Given the description of an element on the screen output the (x, y) to click on. 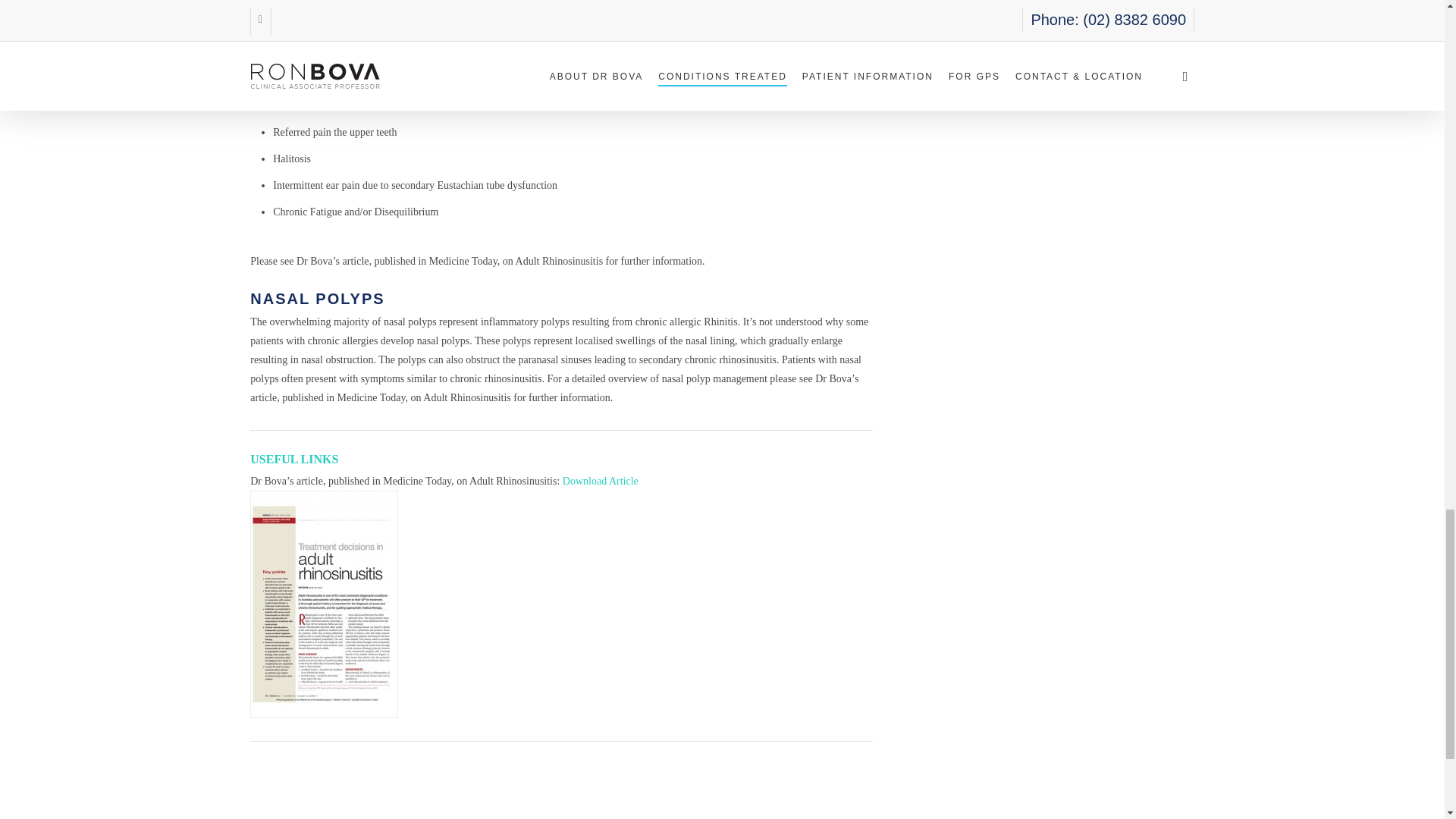
Download Article (600, 480)
